Given the description of an element on the screen output the (x, y) to click on. 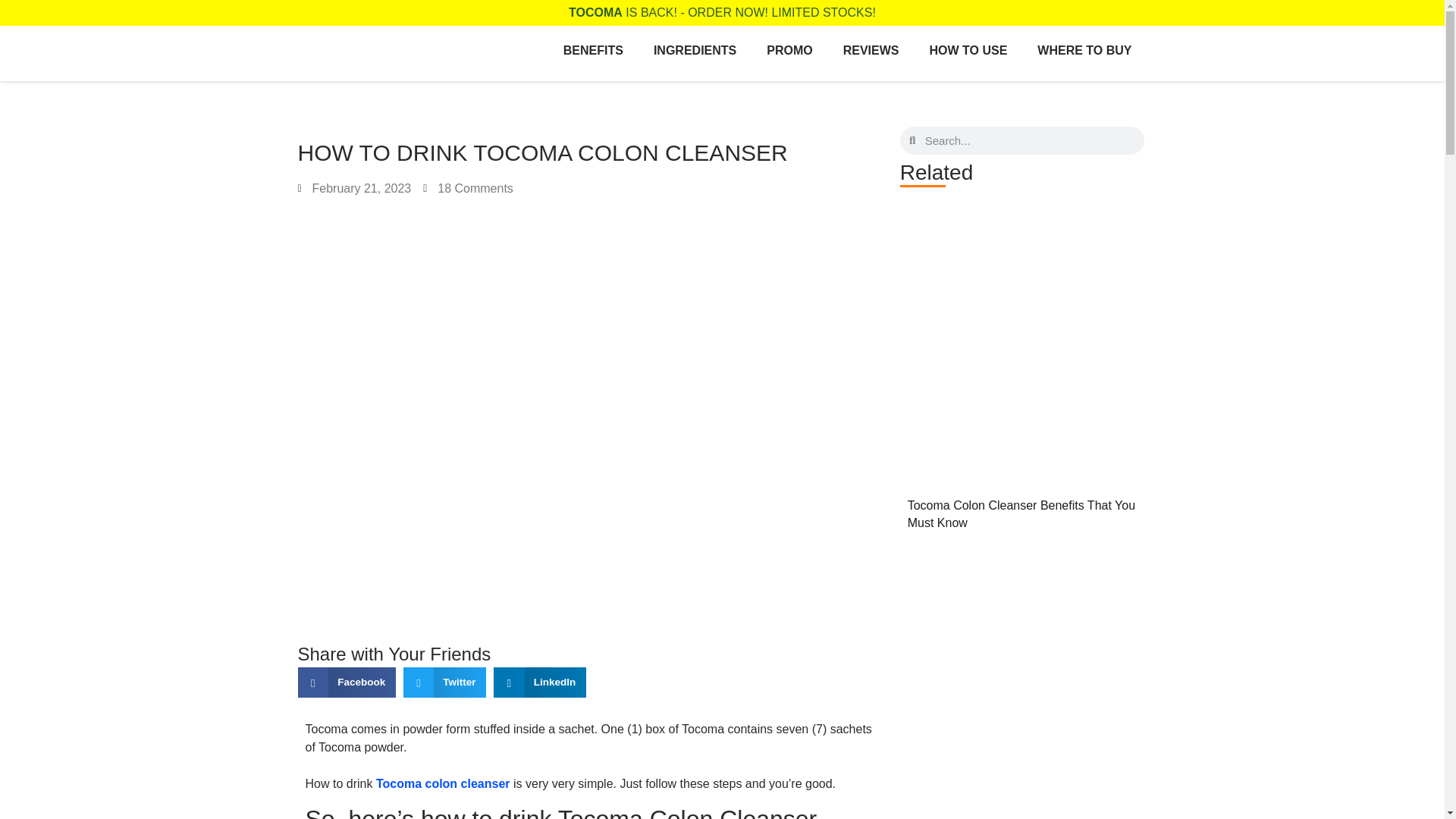
INGREDIENTS (695, 50)
Tocoma colon cleanser (443, 783)
WHERE TO BUY (1084, 50)
BENEFITS (593, 50)
18 Comments (468, 188)
REVIEWS (871, 50)
HOW TO USE (968, 50)
PROMO (789, 50)
